Given the description of an element on the screen output the (x, y) to click on. 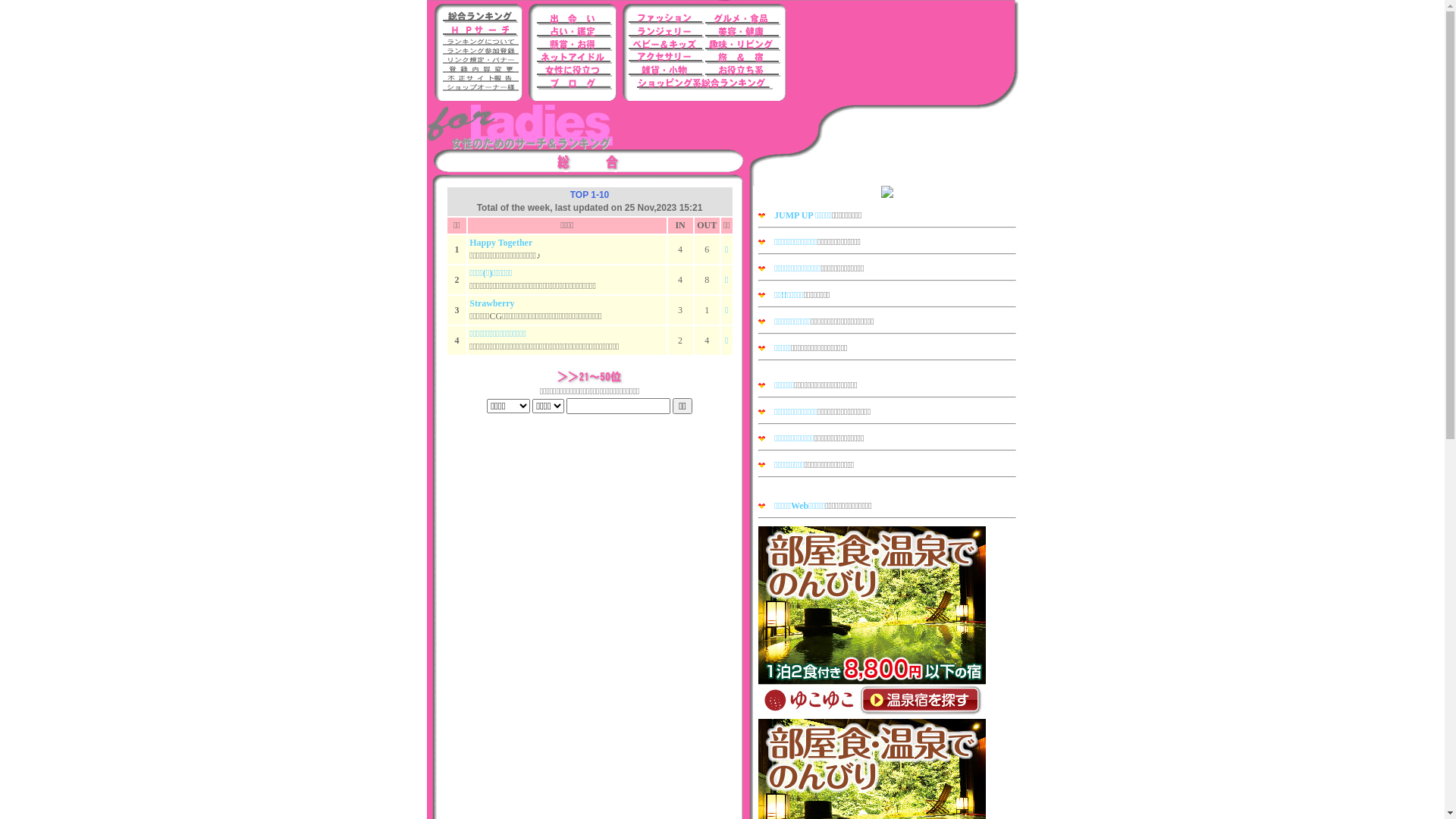
Strawberry Element type: text (491, 303)
Happy Together Element type: text (500, 242)
